Given the description of an element on the screen output the (x, y) to click on. 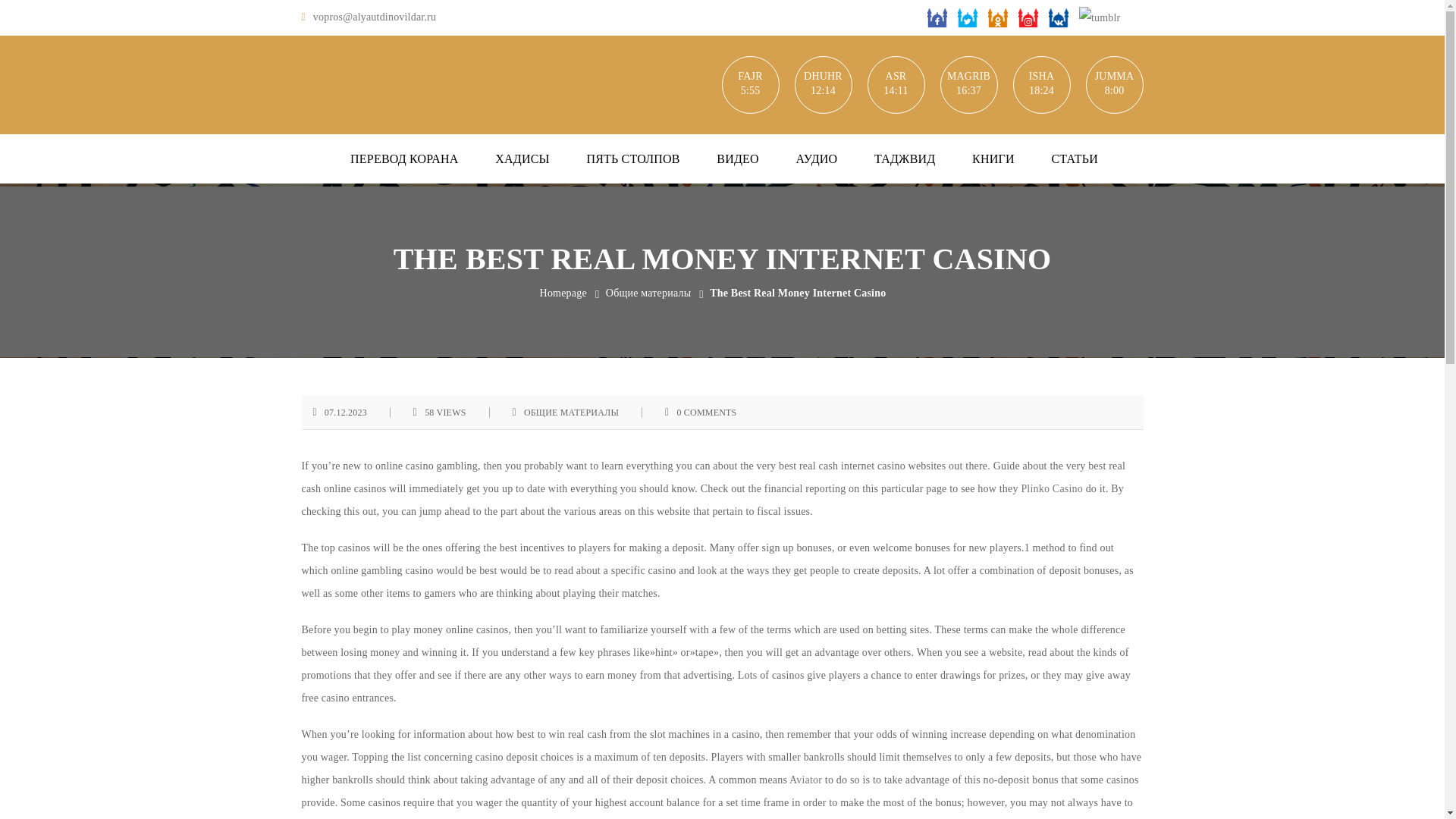
MAGRIB (967, 76)
DHUHR (822, 76)
FAJR (749, 76)
ASR (895, 76)
JUMMA (1113, 76)
The Best Real Money Internet Casino (797, 292)
Homepage (563, 292)
ISHA (1040, 76)
